Given the description of an element on the screen output the (x, y) to click on. 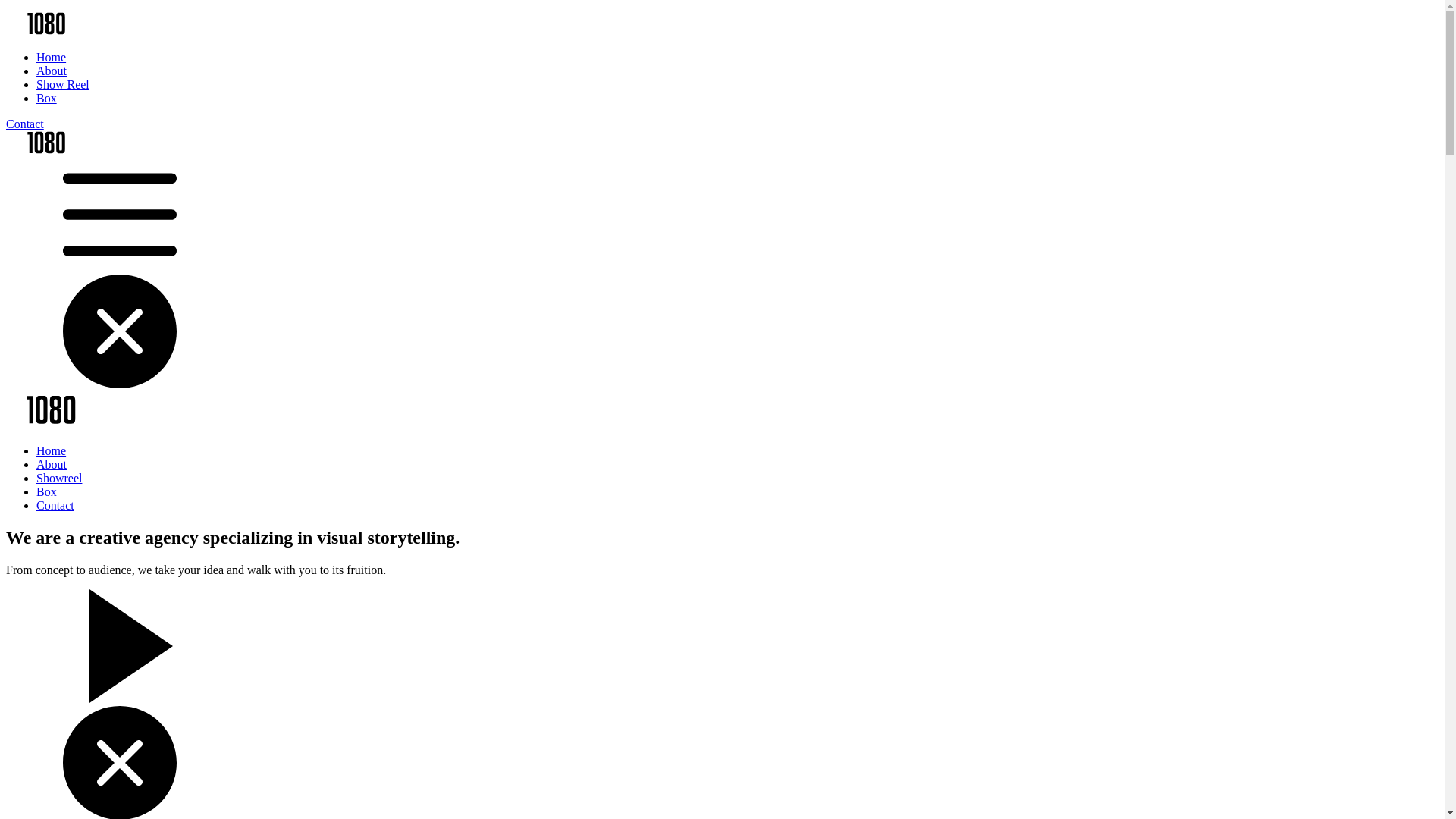
Contact Element type: text (24, 123)
Home Element type: text (50, 450)
Box Element type: text (46, 491)
Show Reel Element type: text (62, 84)
About Element type: text (51, 464)
About Element type: text (51, 70)
Box Element type: text (46, 97)
Home Element type: text (50, 56)
Contact Element type: text (55, 504)
Showreel Element type: text (58, 477)
